Given the description of an element on the screen output the (x, y) to click on. 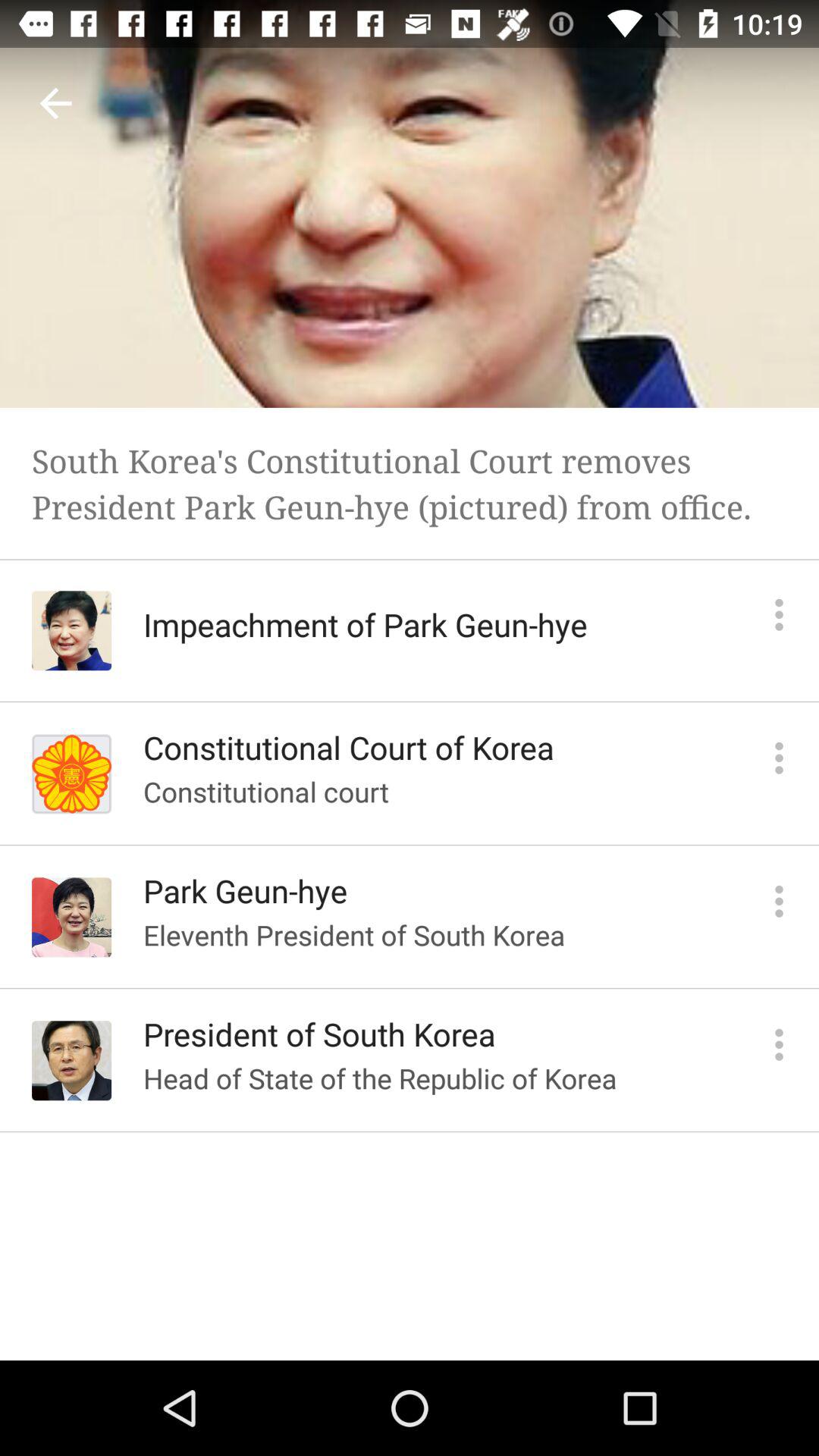
more option (779, 614)
